Given the description of an element on the screen output the (x, y) to click on. 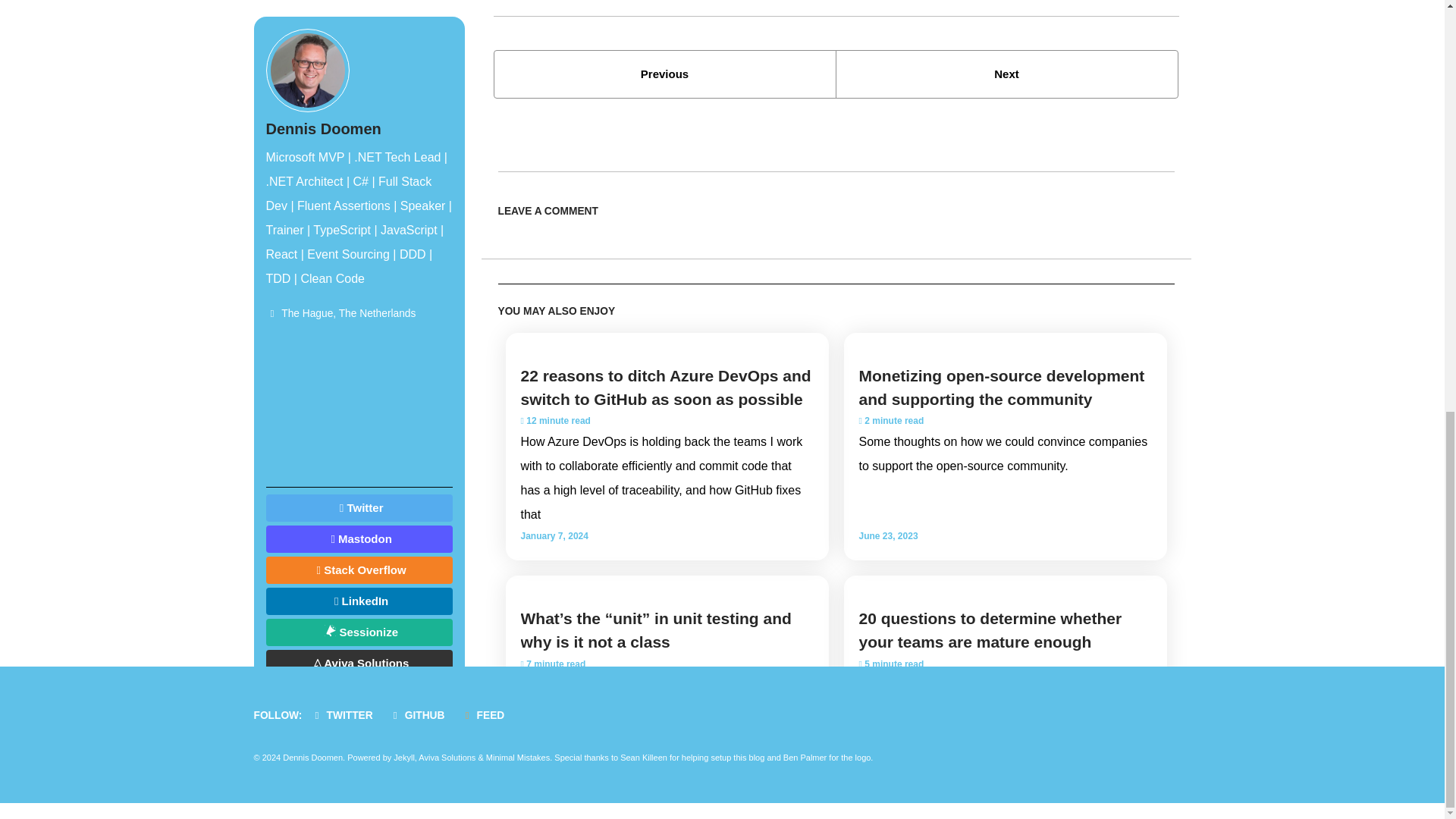
Minimal Mistakes (518, 757)
Sean Killeen (643, 757)
TWITTER (345, 715)
Next (1006, 73)
FEED (1006, 73)
Previous (486, 715)
Jekyll (664, 73)
